Given the description of an element on the screen output the (x, y) to click on. 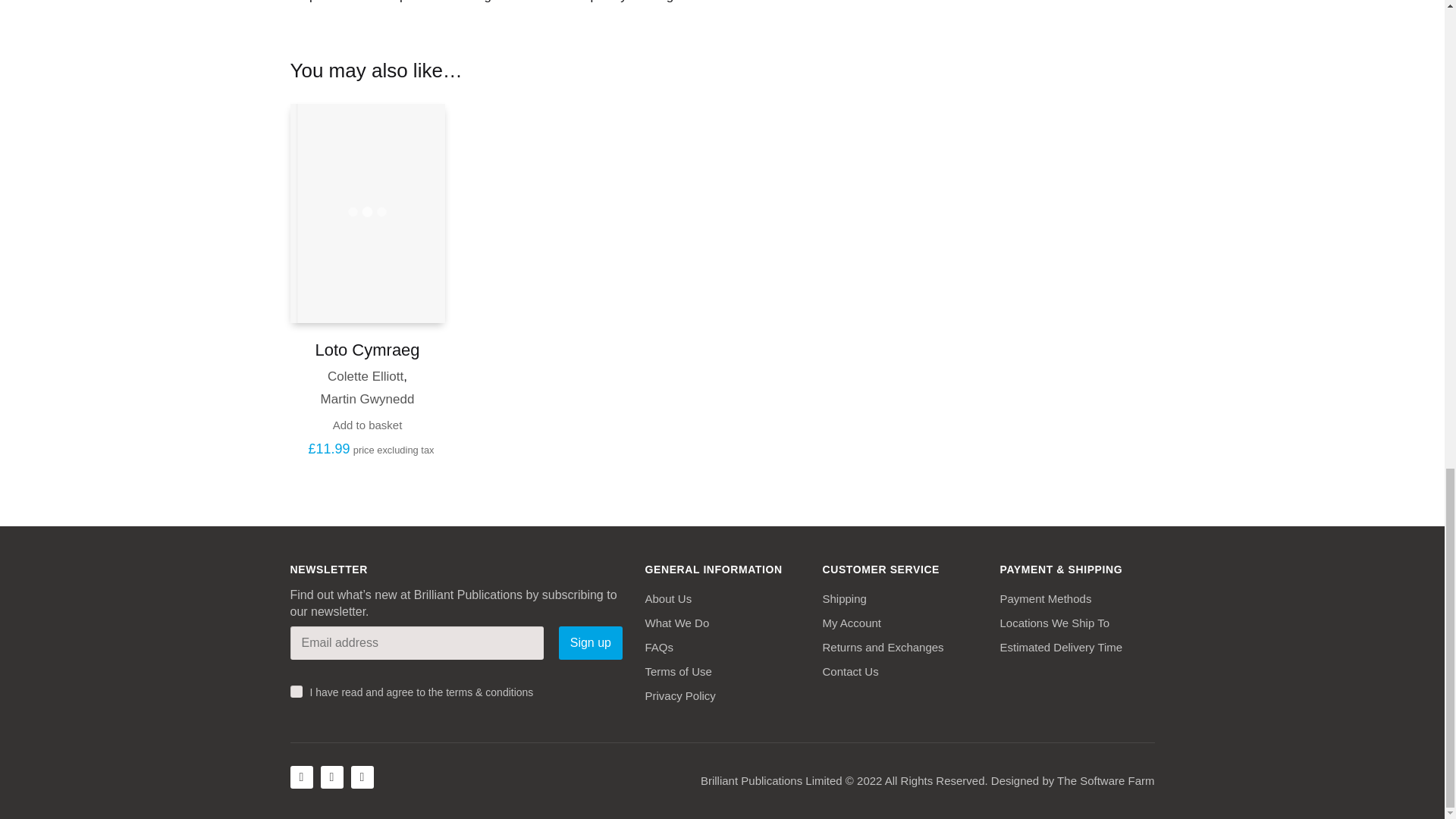
Twitter (331, 776)
1 (295, 691)
Instagram (361, 776)
Sign up (590, 642)
Facebook (301, 776)
